Given the description of an element on the screen output the (x, y) to click on. 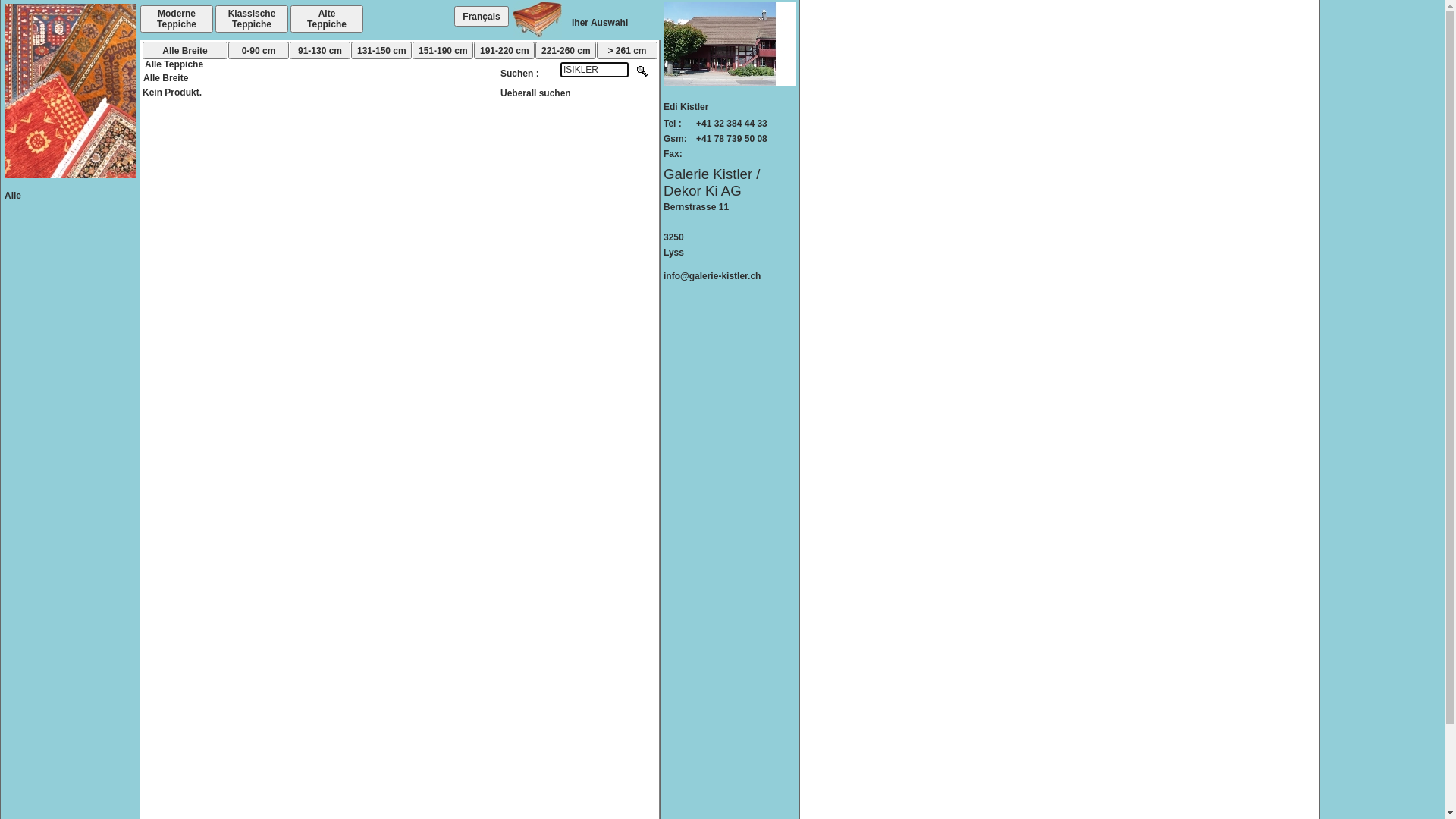
Iher Auswahl Element type: text (599, 22)
Sondern
Verkauf Element type: text (401, 18)
Ueberall suchen Element type: text (535, 92)
stockKTL Element type: text (693, 304)
191-220 cm Element type: text (503, 50)
221-260 cm Element type: text (565, 50)
151-190 cm Element type: text (442, 50)
Alle Element type: text (12, 195)
Klassische
Teppiche Element type: text (251, 18)
91-130 cm Element type: text (319, 50)
Alle Breite Element type: text (184, 50)
Moderne
Teppiche Element type: text (176, 18)
0-90 cm Element type: text (258, 50)
> 261 cm Element type: text (626, 50)
Rechercher Element type: hover (642, 77)
131-150 cm Element type: text (381, 50)
Alte
Teppiche Element type: text (326, 18)
Votre chariot Element type: hover (537, 34)
